Given the description of an element on the screen output the (x, y) to click on. 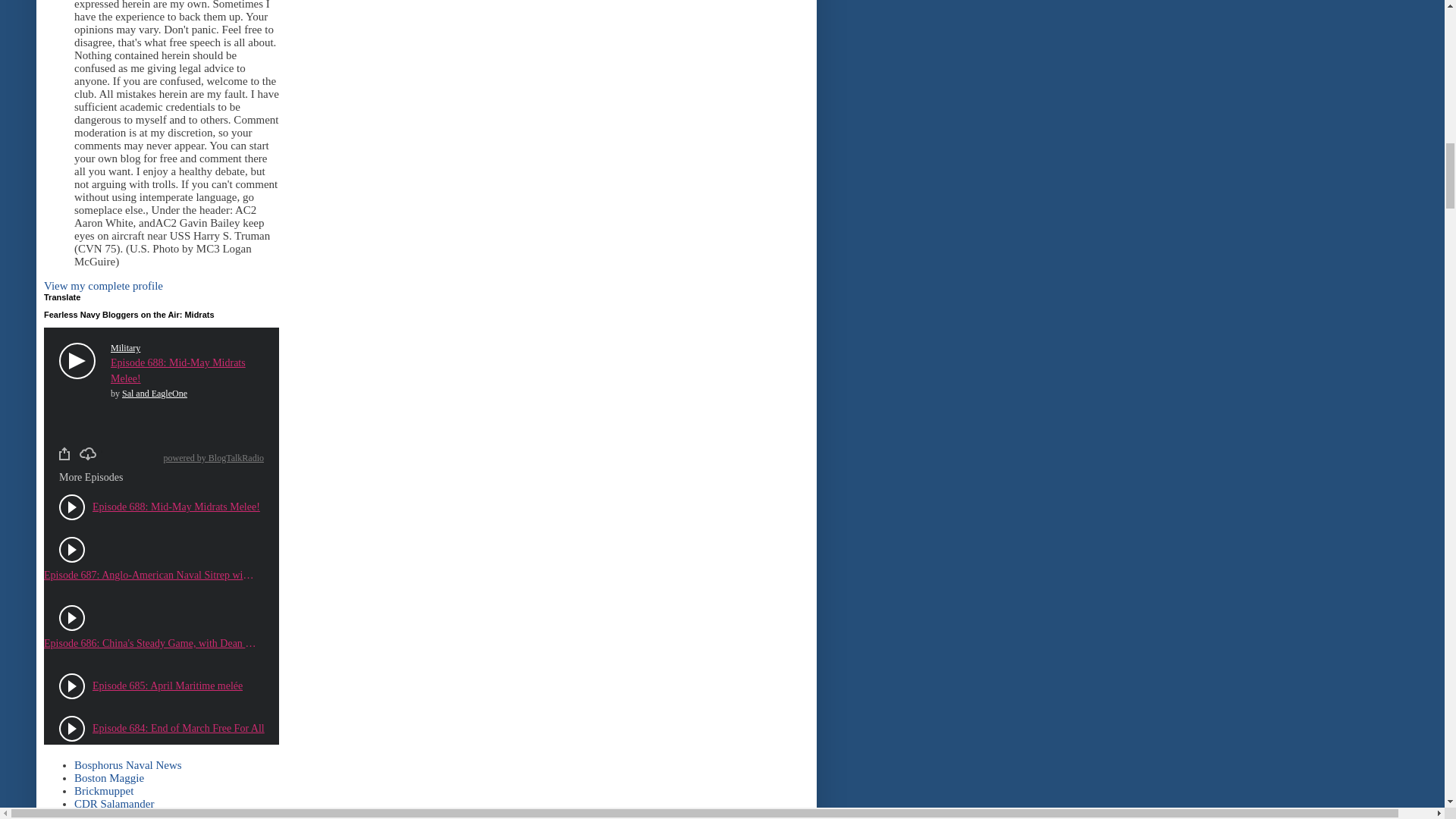
Bosphorus Naval News (128, 765)
CDR Salamander (114, 803)
Boston Maggie (109, 777)
Brickmuppet (103, 790)
Chuck Hill's Coast Guard Blog (144, 814)
View my complete profile (103, 285)
